Given the description of an element on the screen output the (x, y) to click on. 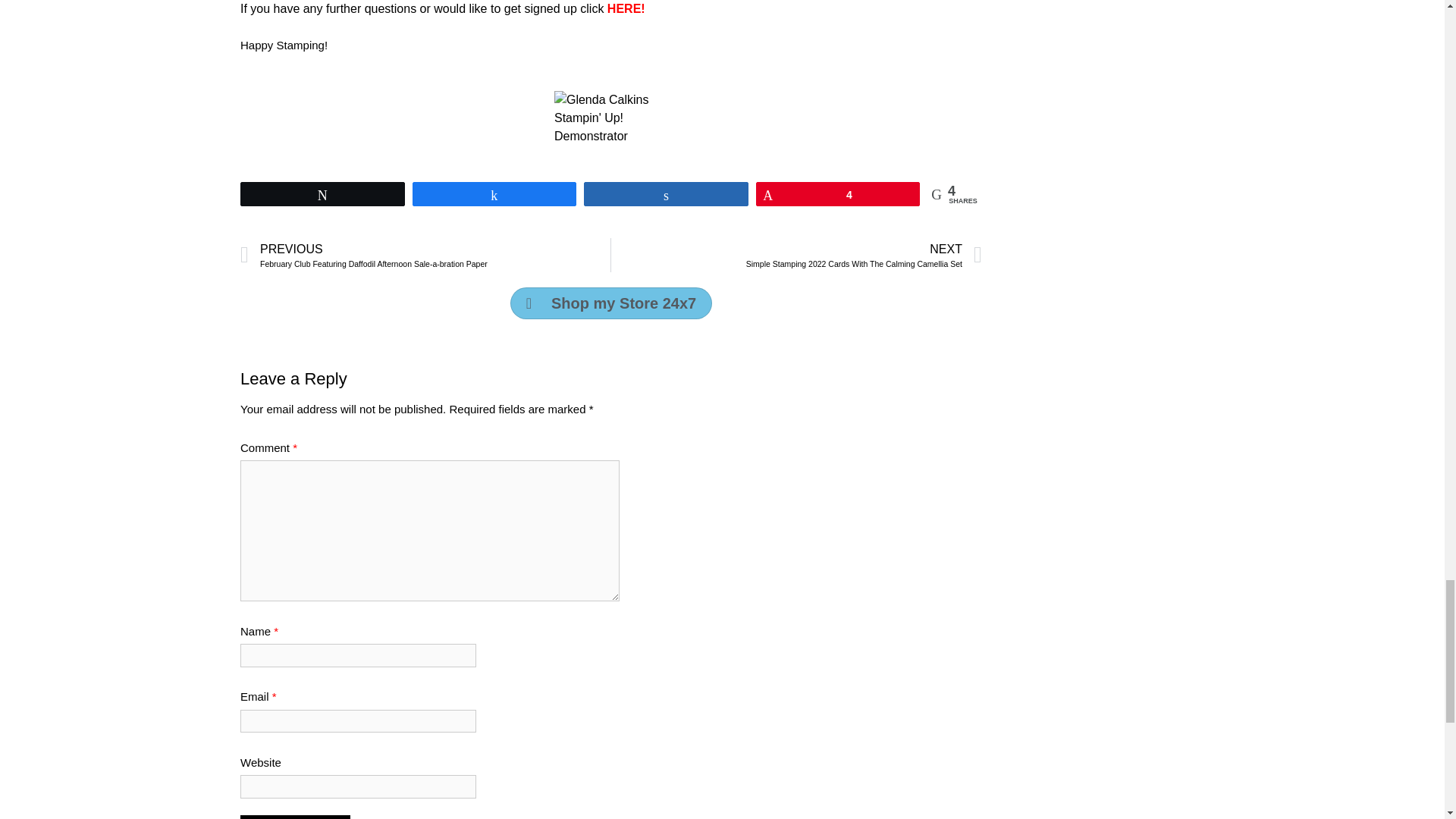
click HERE! (612, 8)
Post Comment (295, 816)
